Given the description of an element on the screen output the (x, y) to click on. 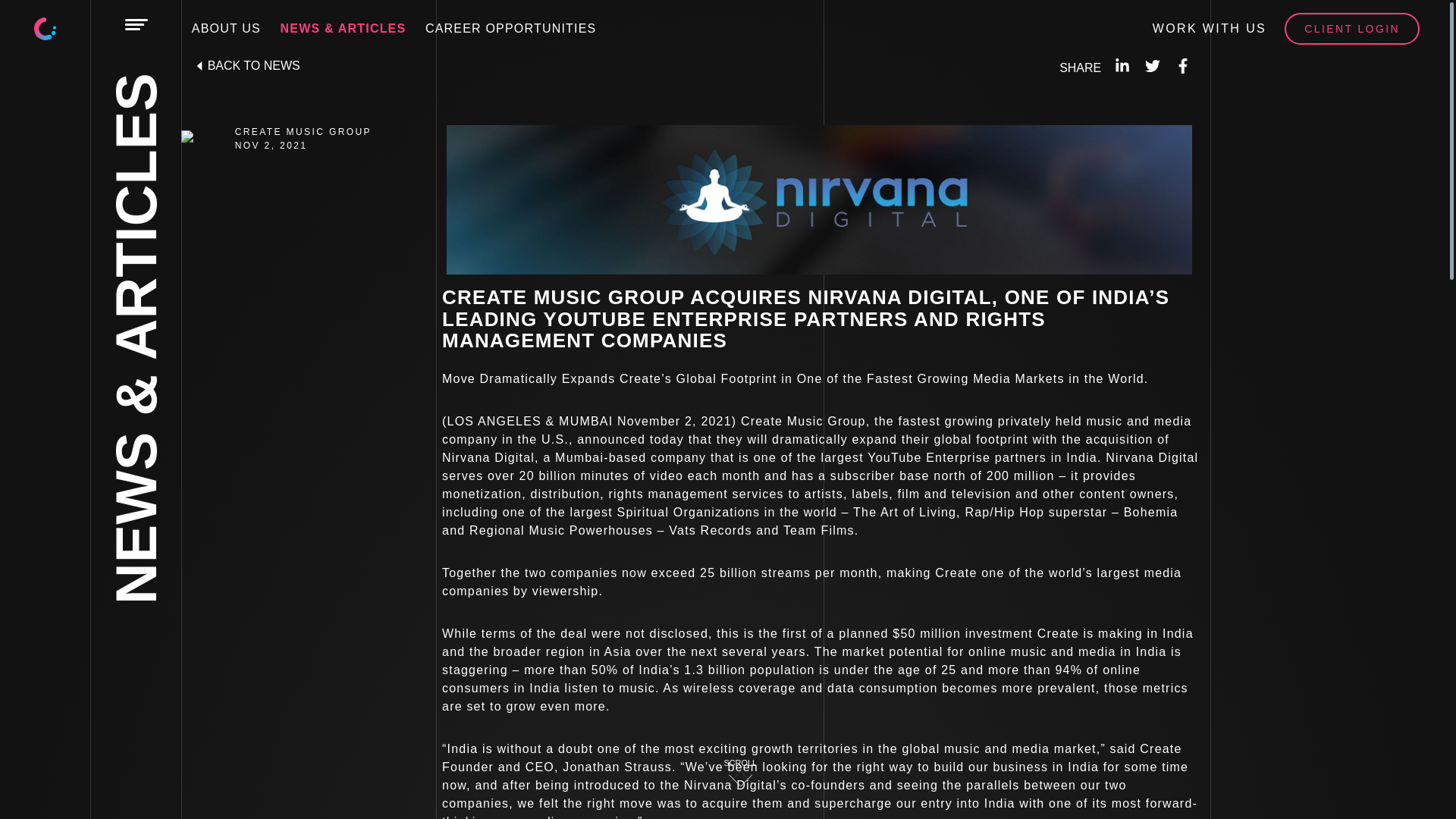
ABOUT US (226, 27)
WORK WITH US (1209, 28)
Client Login (1351, 28)
SCROLL (740, 762)
Link to news page (246, 65)
Link to Create Music Group Career Opportunities page (510, 27)
BACK TO NEWS (246, 65)
Link to Create Music Group home page (45, 27)
Work With Us (1209, 28)
CAREER OPPORTUNITIES (510, 27)
